Given the description of an element on the screen output the (x, y) to click on. 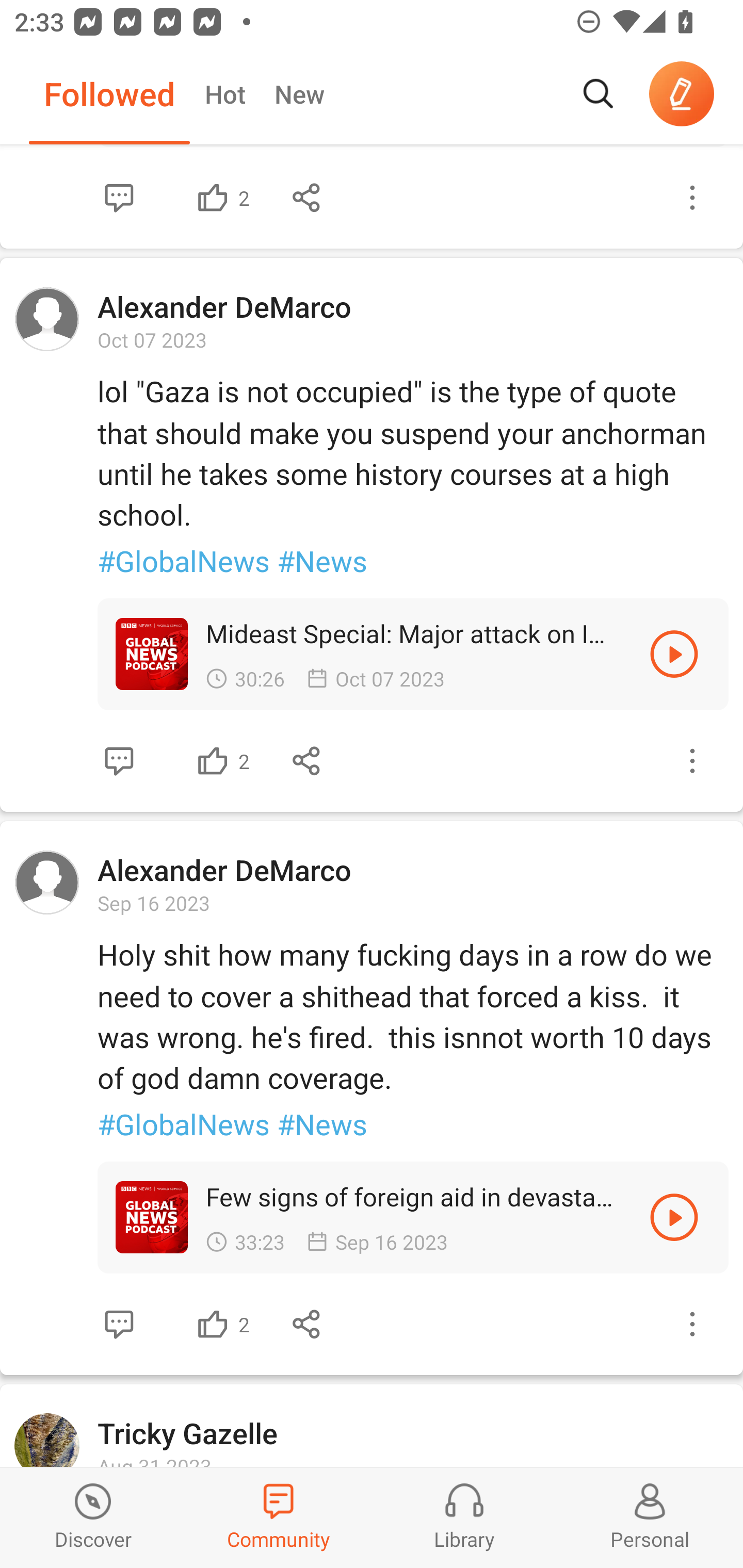
Followed (109, 93)
Hot (224, 93)
New (298, 93)
 (119, 197)
 (212, 197)
 (307, 197)
 (692, 197)
 (673, 653)
 (119, 761)
 (212, 761)
 (307, 761)
 (692, 761)
 (673, 1217)
 (119, 1324)
 (212, 1324)
 (307, 1324)
 (692, 1324)
Discover (92, 1517)
Community (278, 1517)
Library (464, 1517)
Profiles and Settings Personal (650, 1517)
